Given the description of an element on the screen output the (x, y) to click on. 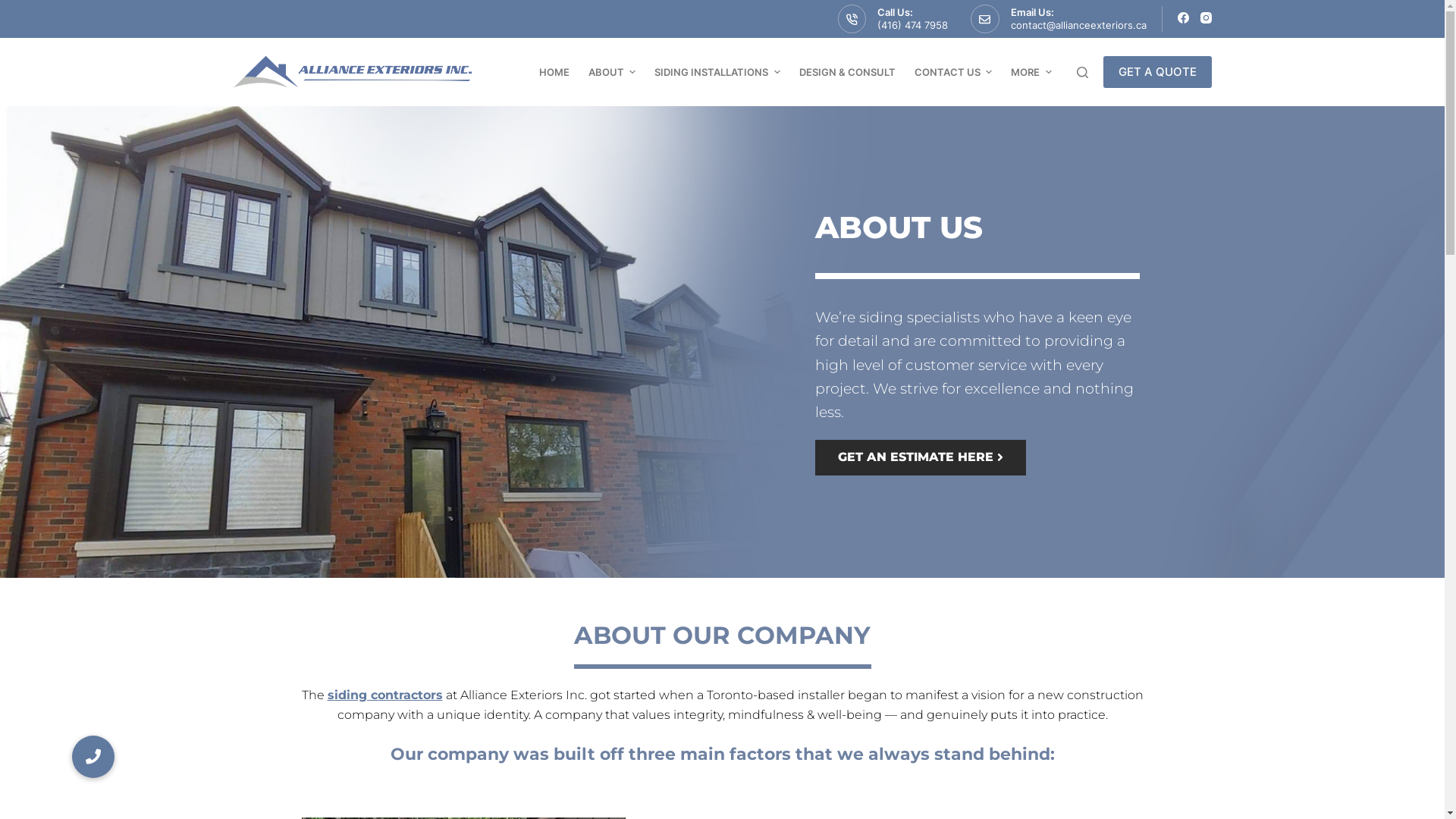
DESIGN & CONSULT Element type: text (846, 71)
MORE Element type: text (1031, 71)
GET A QUOTE Element type: text (1156, 71)
siding contractors Element type: text (384, 694)
Skip to content Element type: text (15, 7)
contact@allianceexteriors.ca Element type: text (1077, 24)
SIDING INSTALLATIONS Element type: text (717, 71)
CONTACT US Element type: text (952, 71)
HOME Element type: text (553, 71)
GET AN ESTIMATE HERE Element type: text (919, 457)
(416) 474 7958 Element type: text (912, 24)
ABOUT Element type: text (611, 71)
